Given the description of an element on the screen output the (x, y) to click on. 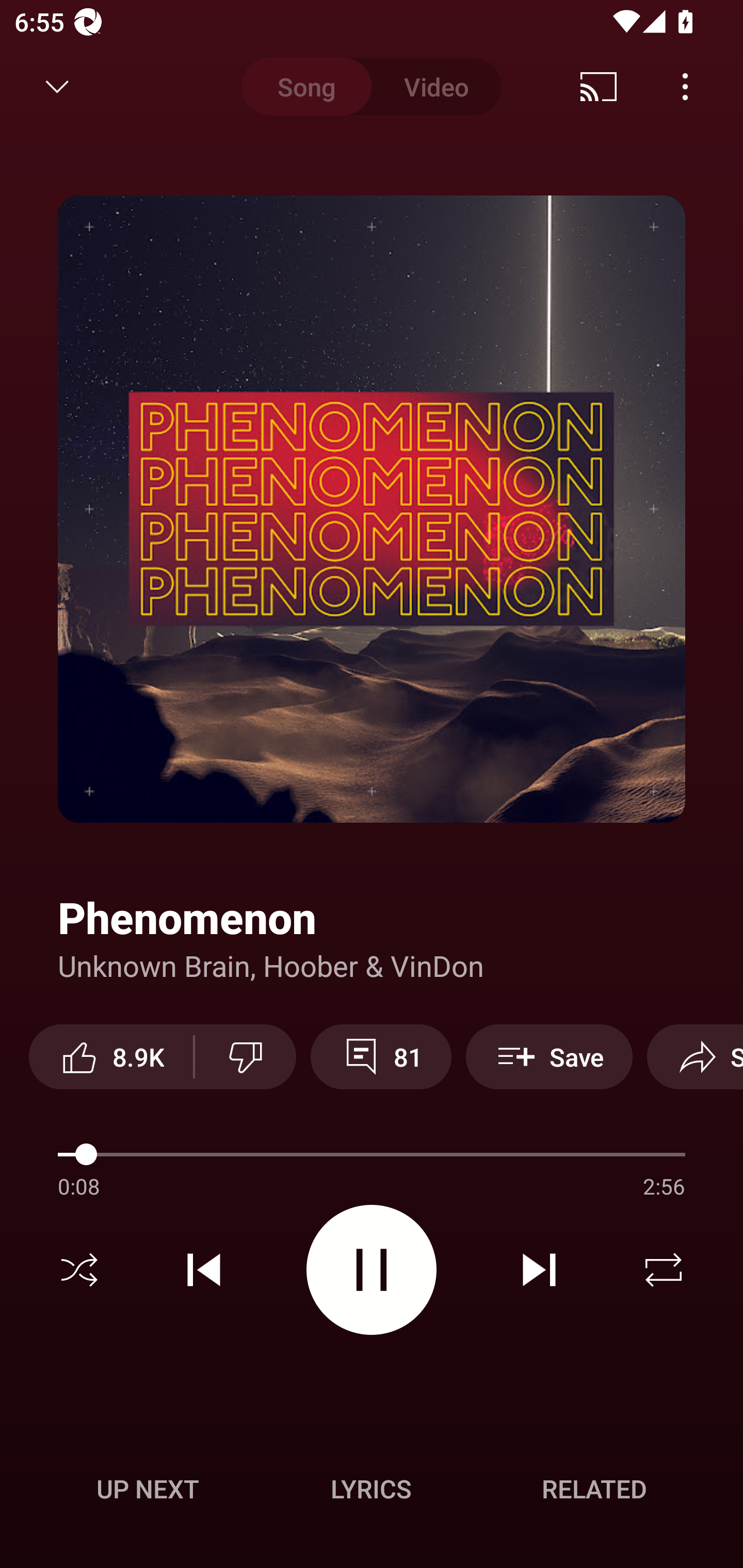
Minimize (57, 86)
Cast. Disconnected (598, 86)
Menu (684, 86)
8.9K like this video along with 8,972 other people (110, 1056)
Dislike (245, 1056)
81 View 81 comments (380, 1056)
Save Save to playlist (548, 1056)
Share (695, 1056)
Pause video (371, 1269)
Shuffle off (79, 1269)
Previous track (203, 1269)
Next track (538, 1269)
Repeat off (663, 1269)
Up next UP NEXT Lyrics LYRICS Related RELATED (371, 1491)
Lyrics LYRICS (370, 1488)
Related RELATED (594, 1488)
